Given the description of an element on the screen output the (x, y) to click on. 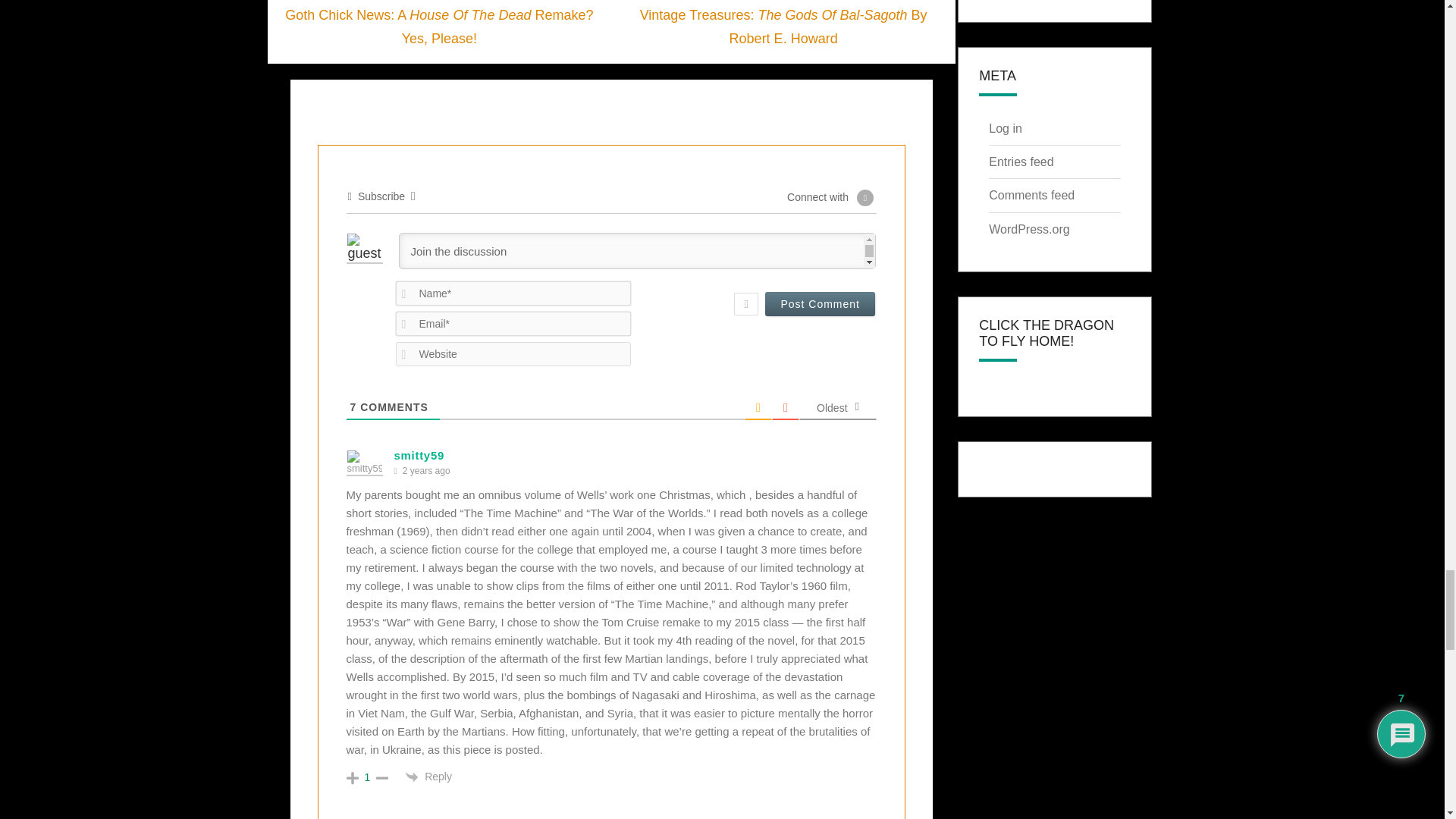
Friday, April 8, 2022 4:02 pm (426, 471)
Post Comment (820, 303)
Post Comment (820, 303)
1 (366, 776)
